Given the description of an element on the screen output the (x, y) to click on. 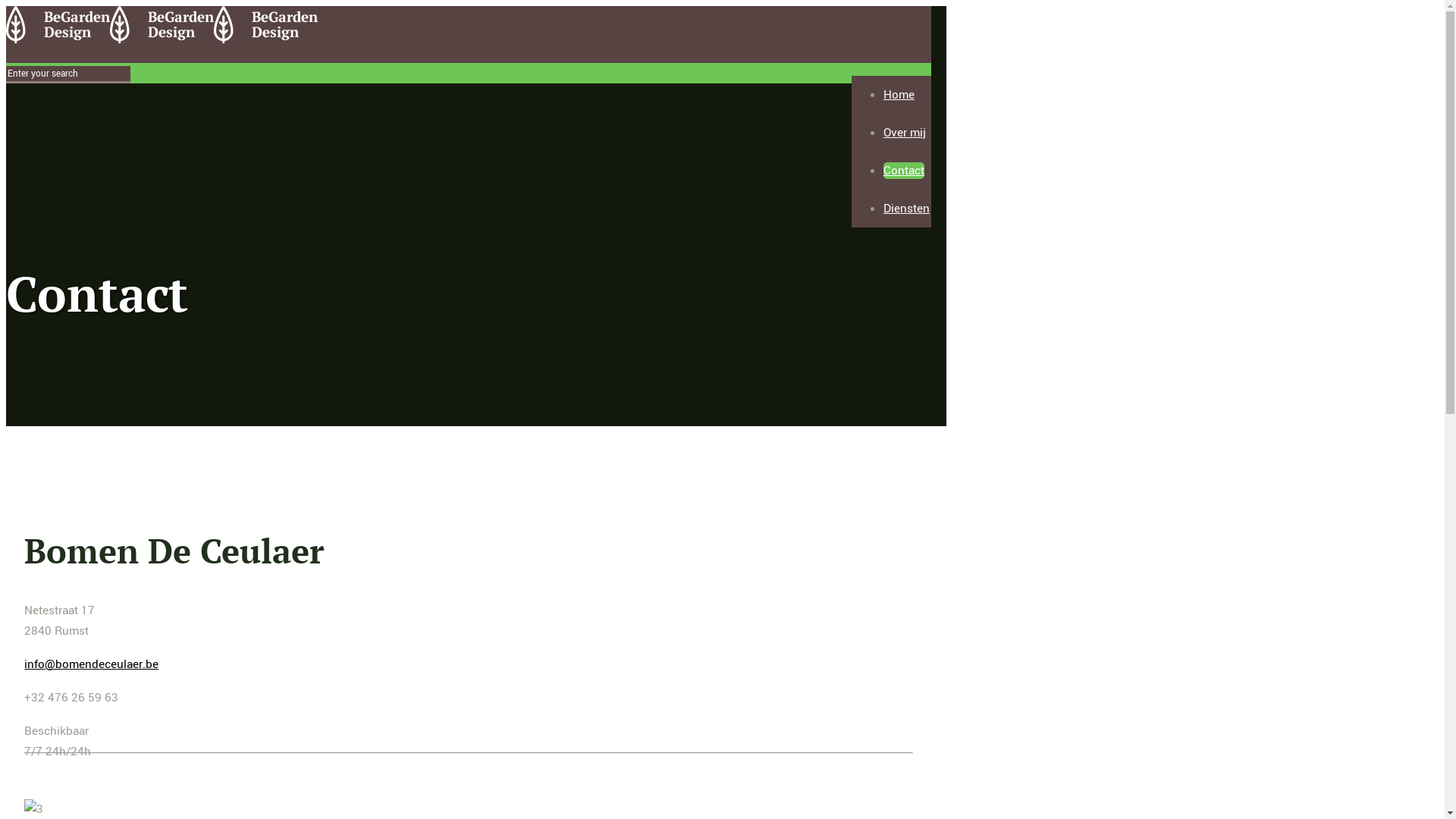
Over mij Element type: text (904, 132)
Bomen De Ceulaer Element type: hover (161, 40)
info@bomendeceulaer.be Element type: text (91, 663)
Diensten Element type: text (906, 208)
Contact Element type: text (903, 170)
Home Element type: text (898, 94)
